Given the description of an element on the screen output the (x, y) to click on. 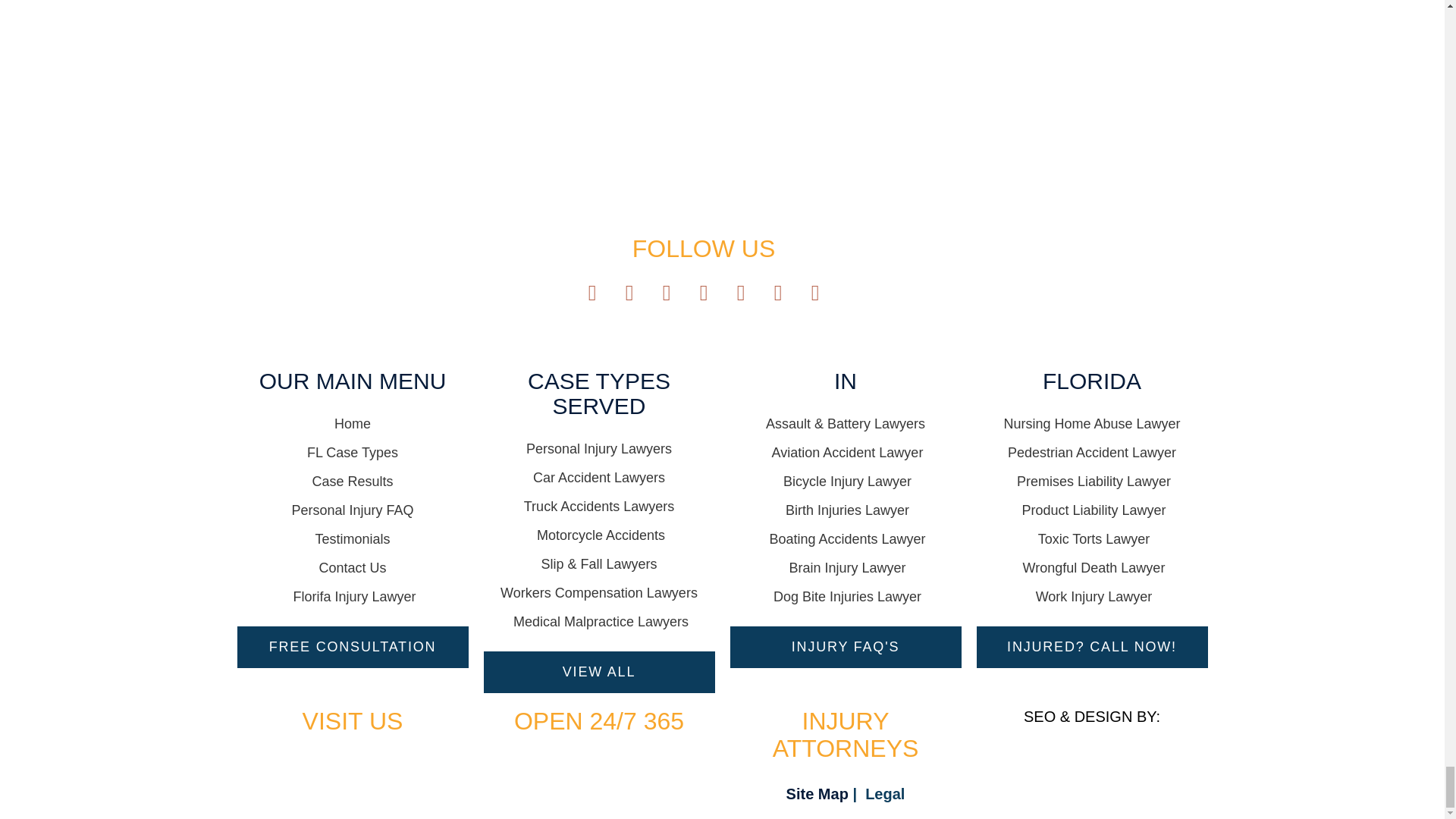
L-29 (702, 106)
